Given the description of an element on the screen output the (x, y) to click on. 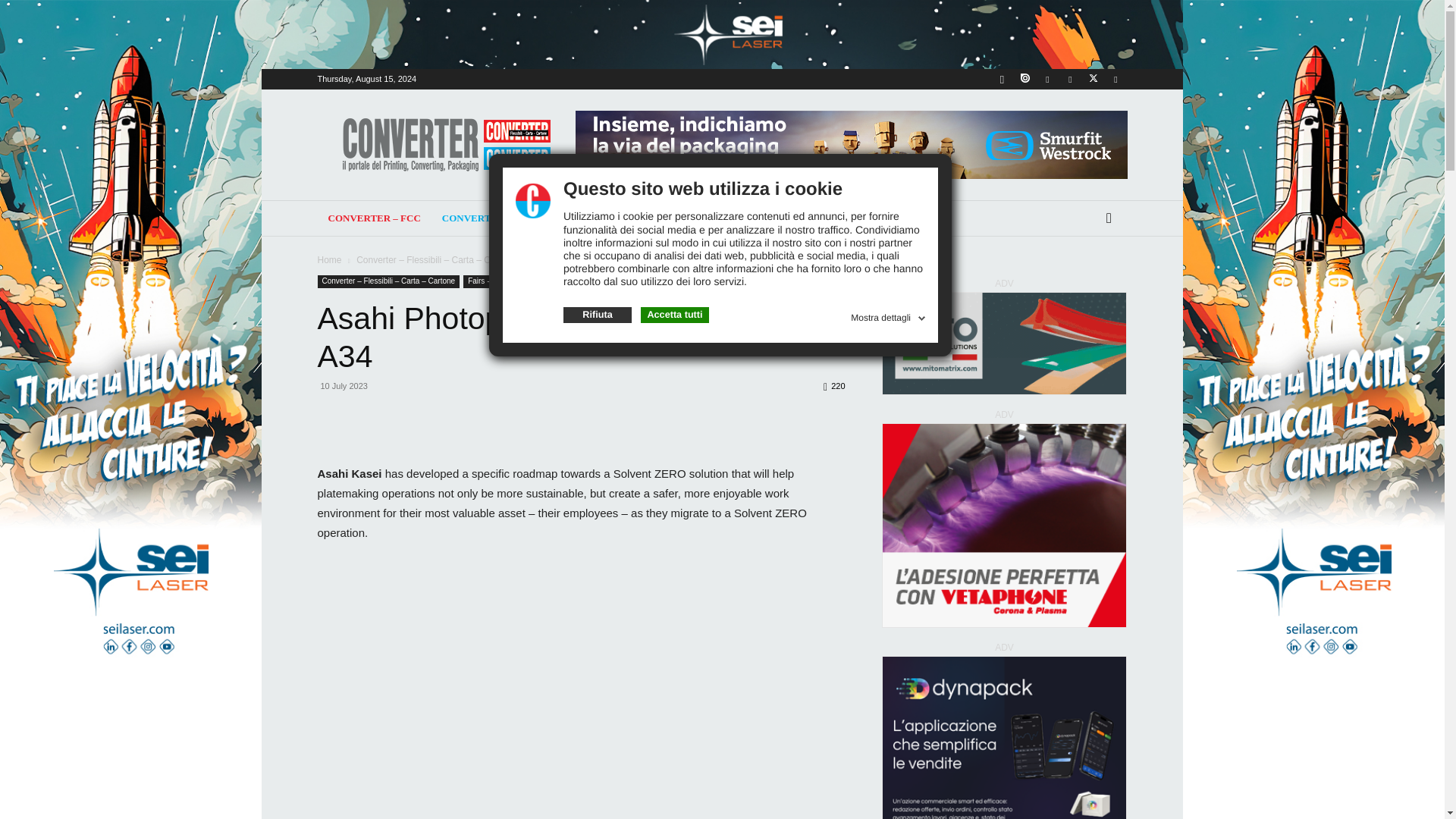
Accetta tutti (674, 315)
Rifiuta (597, 315)
Mostra dettagli (889, 315)
